Given the description of an element on the screen output the (x, y) to click on. 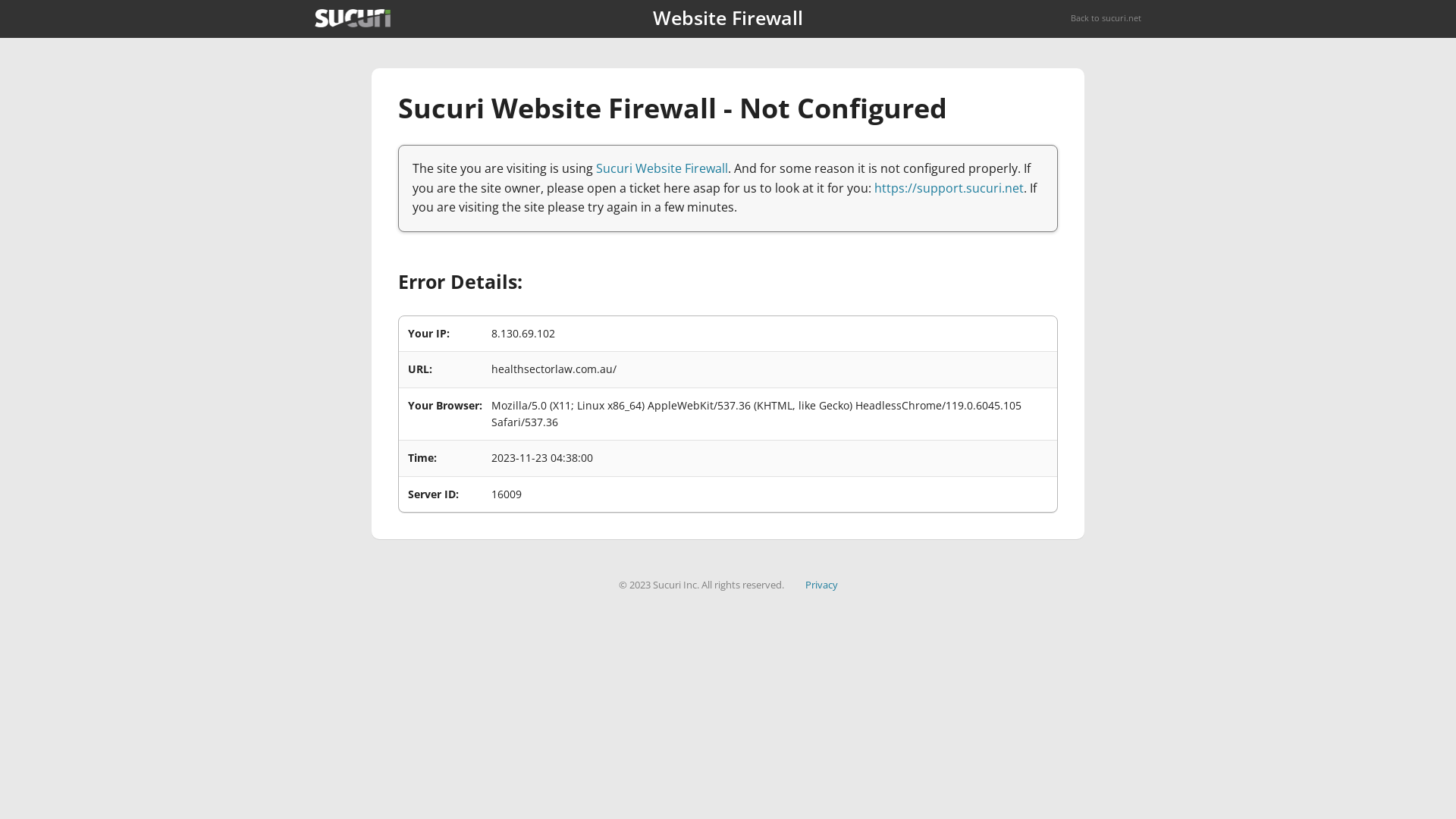
Sucuri Website Firewall Element type: text (662, 168)
https://support.sucuri.net Element type: text (948, 187)
Back to sucuri.net Element type: text (1105, 18)
Privacy Element type: text (821, 584)
